Given the description of an element on the screen output the (x, y) to click on. 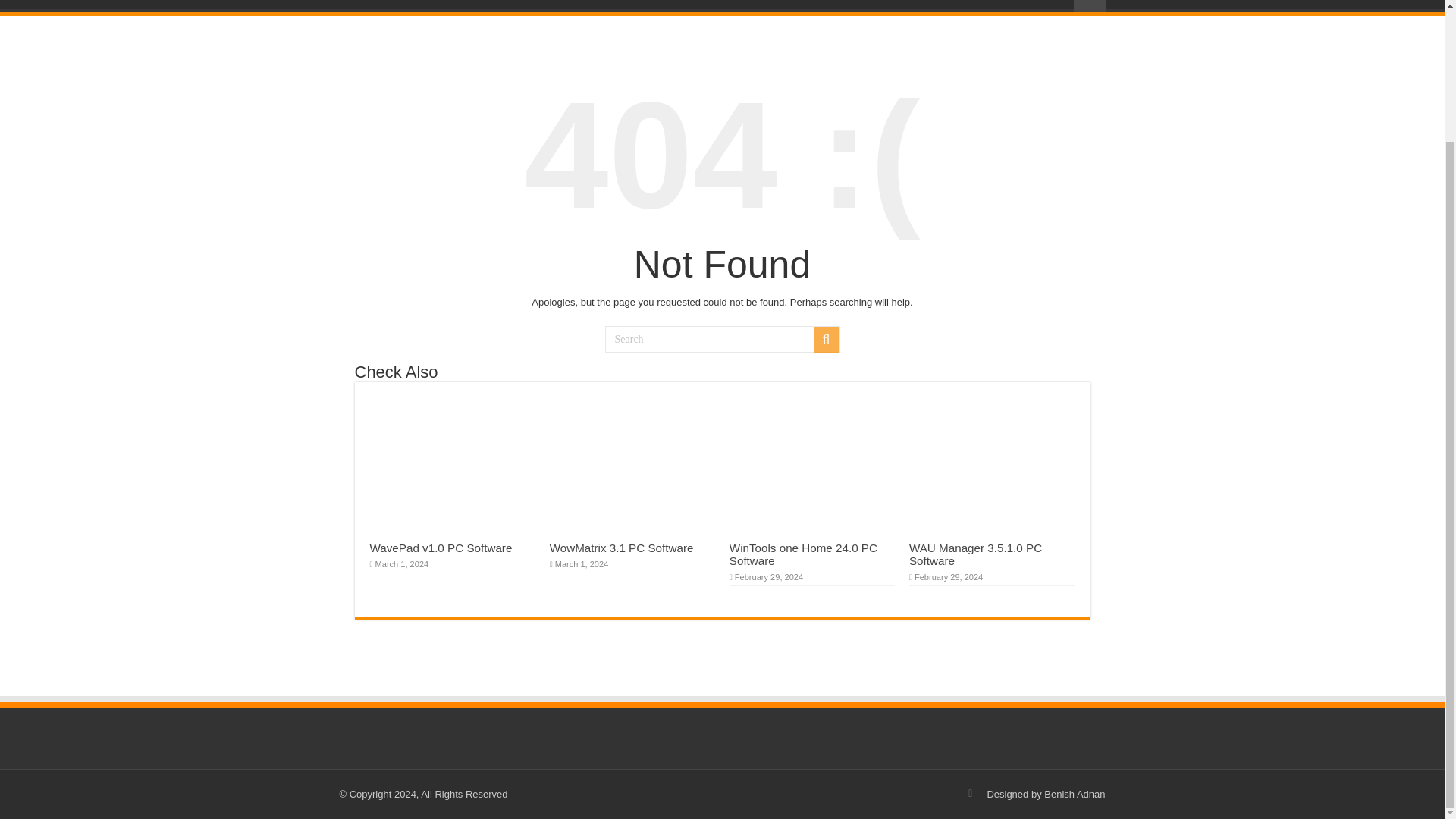
WowMatrix 3.1 PC Software (622, 547)
Search (722, 338)
WavePad v1.0 PC Software (440, 547)
Benish Adnan (1074, 794)
Search (825, 339)
Random Article (1089, 6)
WinTools one Home 24.0 PC Software (803, 554)
WAU Manager 3.5.1.0 PC Software (975, 554)
